Given the description of an element on the screen output the (x, y) to click on. 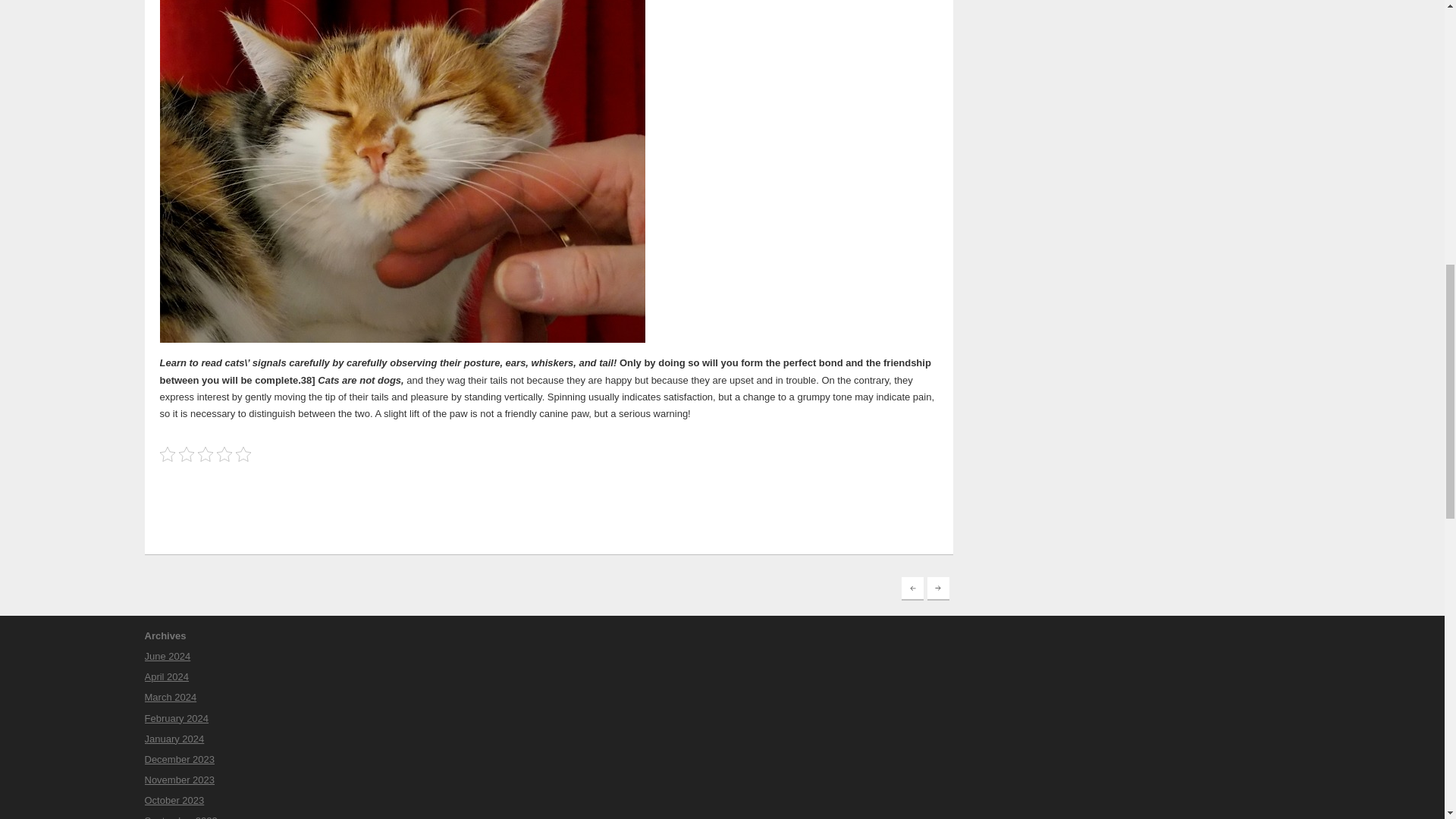
September 2023 (180, 816)
April 2024 (166, 676)
October 2023 (173, 799)
June 2024 (167, 655)
December 2023 (179, 758)
March 2024 (170, 696)
November 2023 (179, 779)
February 2024 (176, 717)
January 2024 (173, 738)
